Given the description of an element on the screen output the (x, y) to click on. 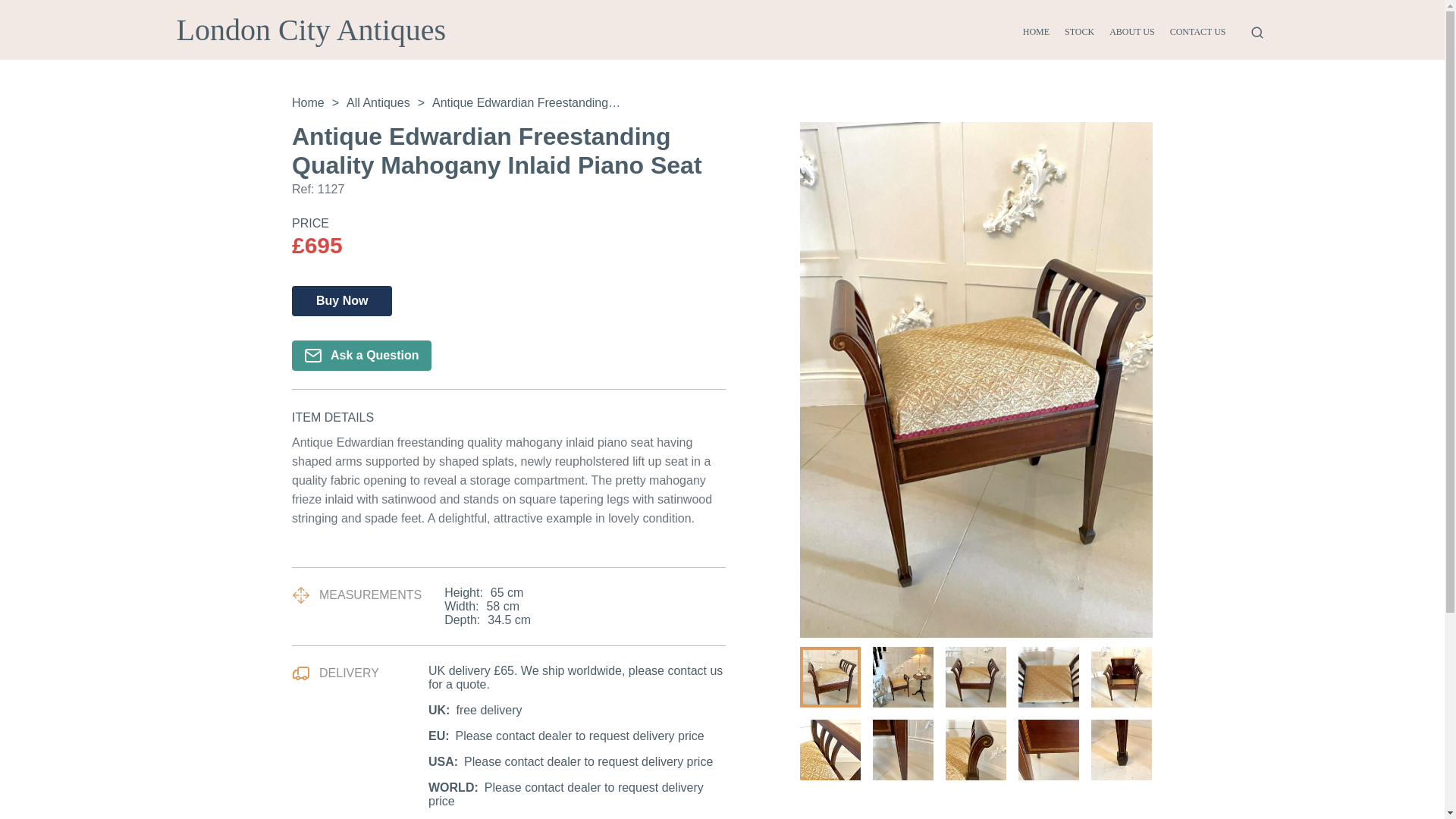
Buy Now (341, 300)
HOME (1036, 31)
Item Additional Image (1120, 749)
Item Additional Image (902, 749)
Ask a Question (361, 355)
Item Additional Image (1047, 749)
Item Additional Image (902, 677)
Item Additional Image (975, 749)
Item Additional Image (829, 677)
Delivery Icon (301, 673)
CONTACT US (1197, 31)
Item Additional Image (829, 749)
STOCK (1079, 31)
Measurements Icon (301, 595)
Item Additional Image (1120, 677)
